Given the description of an element on the screen output the (x, y) to click on. 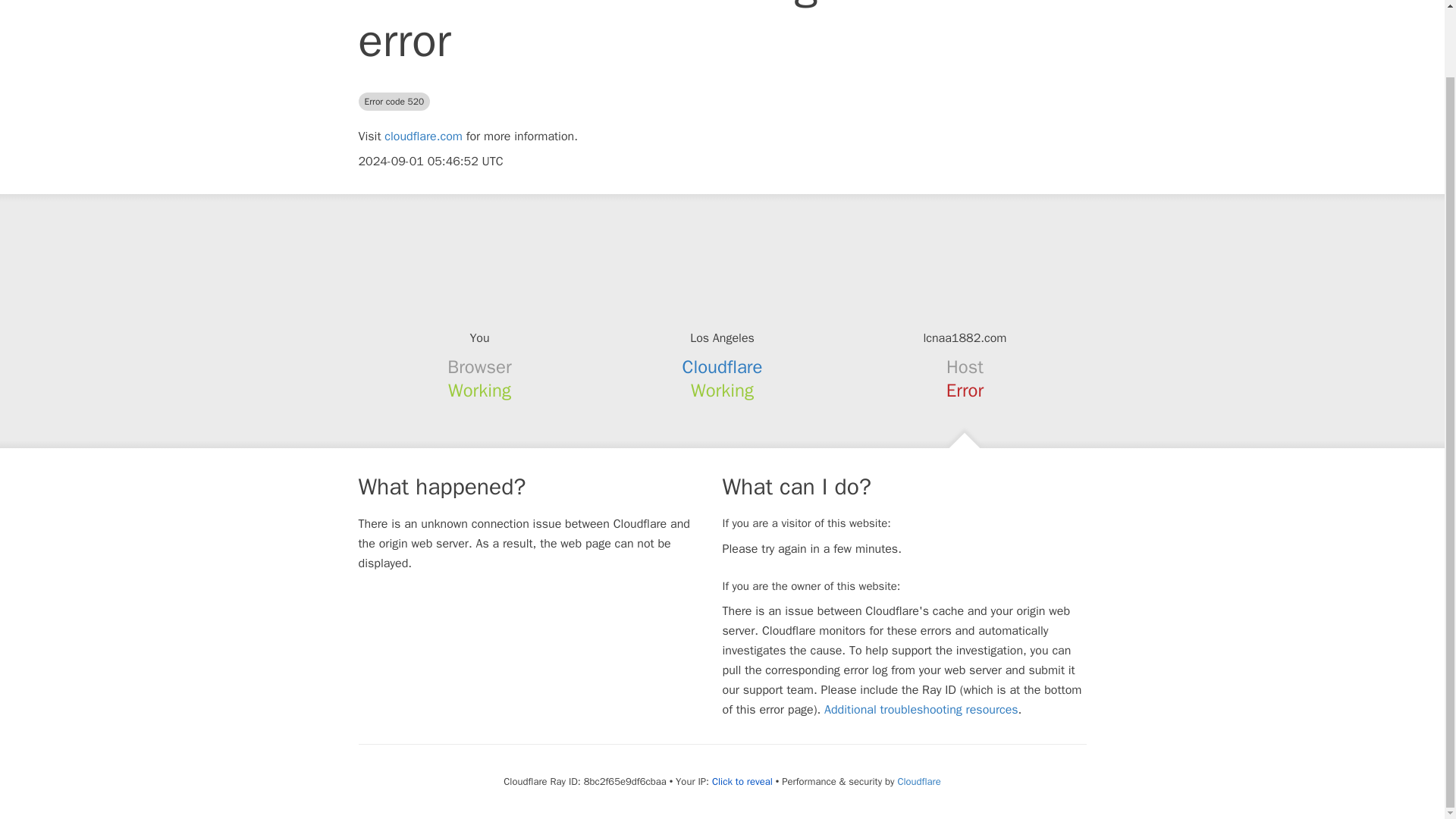
Cloudflare (722, 366)
Cloudflare (918, 780)
Additional troubleshooting resources (920, 709)
Click to reveal (742, 781)
cloudflare.com (423, 136)
